Given the description of an element on the screen output the (x, y) to click on. 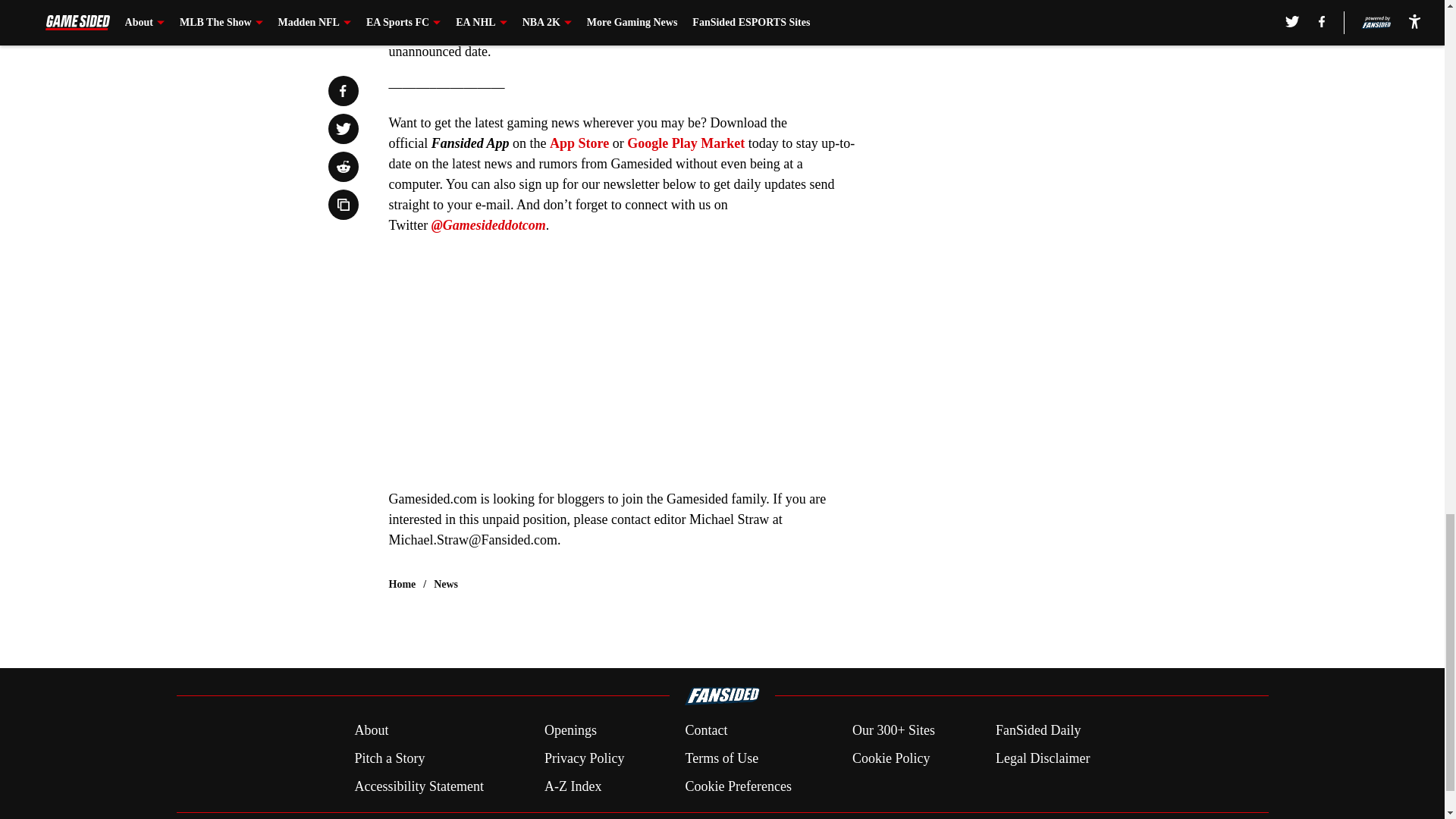
FanSided Daily (1038, 730)
Pitch a Story (389, 758)
Privacy Policy (584, 758)
Openings (570, 730)
News (445, 584)
Home (401, 584)
Contact (705, 730)
Google Play Market (685, 142)
Terms of Use (721, 758)
App Store (579, 142)
